Given the description of an element on the screen output the (x, y) to click on. 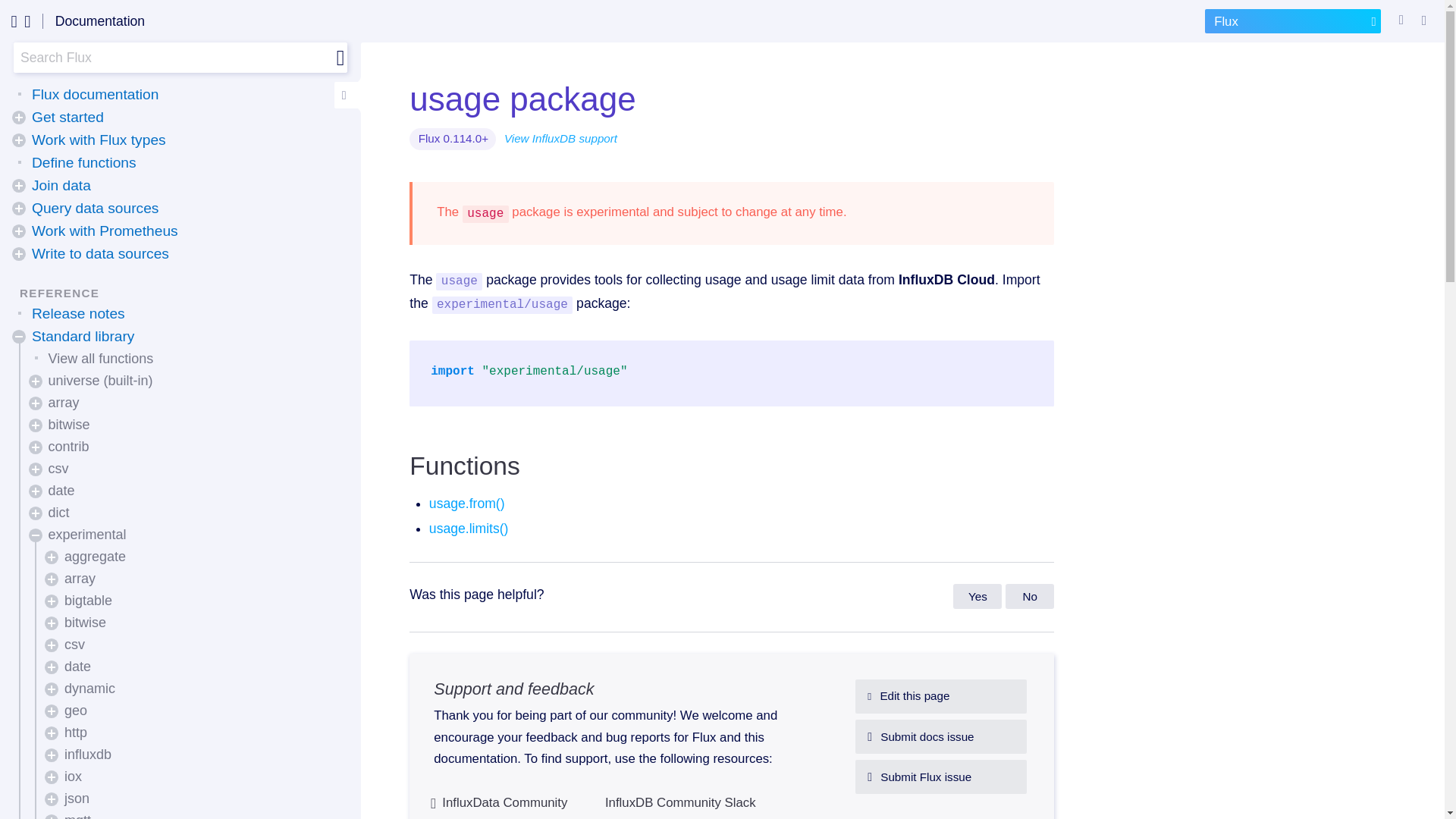
Flux documentation (95, 94)
Documentation (99, 21)
Get started (67, 117)
Work with Flux types (98, 139)
InfluxData (20, 21)
